Given the description of an element on the screen output the (x, y) to click on. 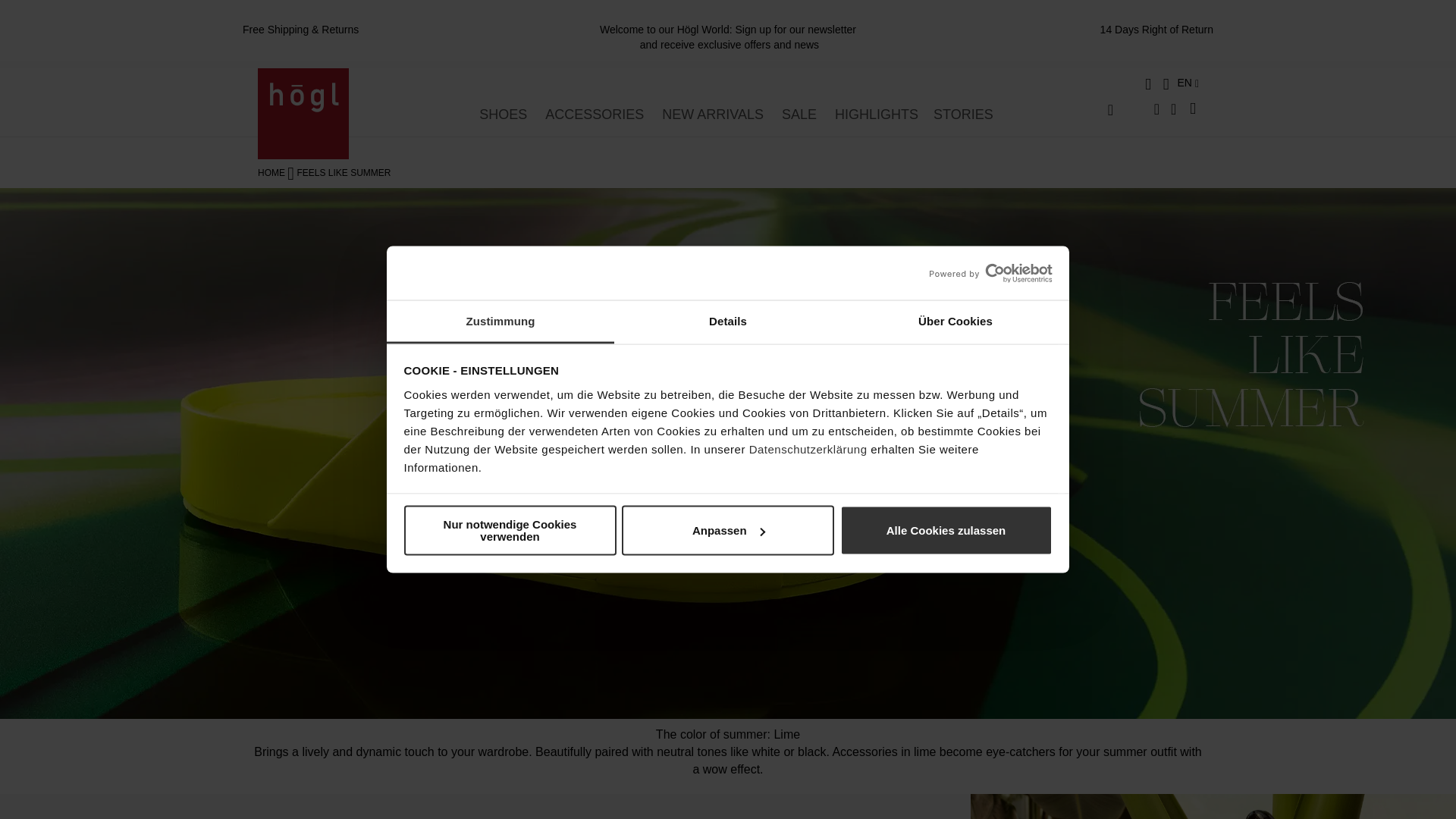
Details (727, 321)
Zustimmung (500, 321)
